Given the description of an element on the screen output the (x, y) to click on. 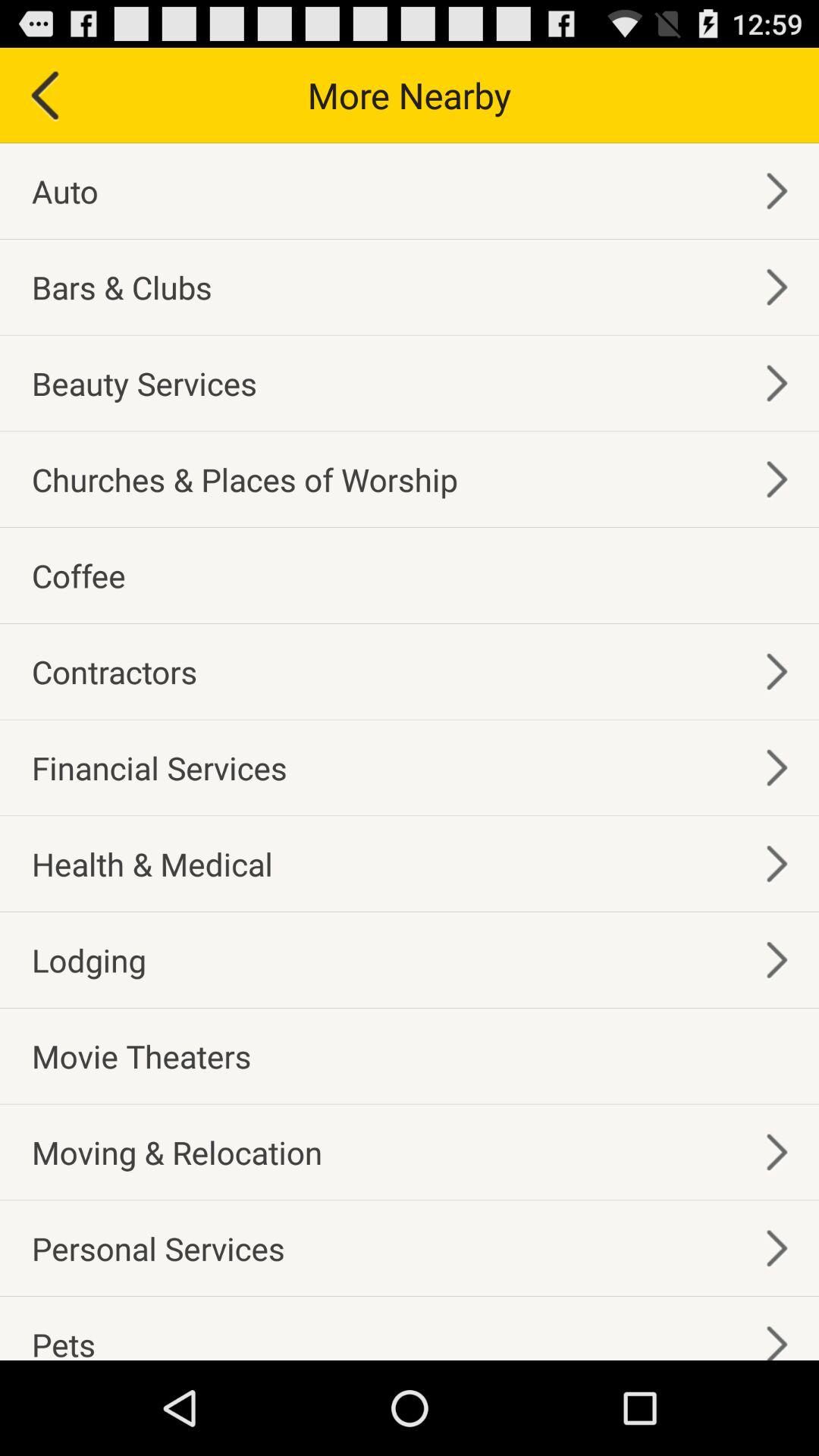
open app below the auto app (121, 286)
